Given the description of an element on the screen output the (x, y) to click on. 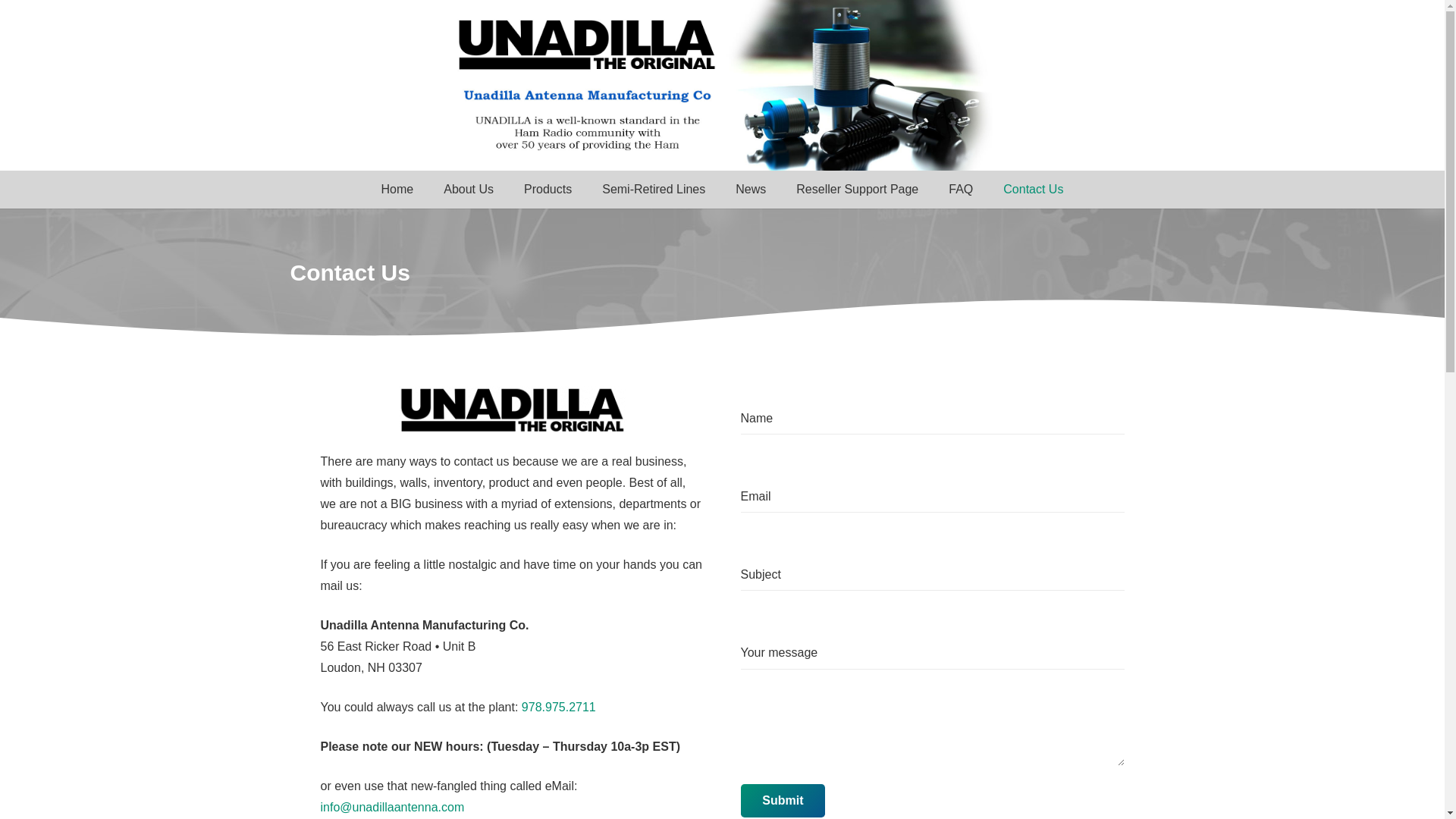
Reseller Support Page (856, 189)
Products (547, 189)
About Us (468, 189)
FAQ (960, 189)
Submit (782, 800)
Home (397, 189)
978.975.2711 (558, 707)
Semi-Retired Lines (653, 189)
News (750, 189)
Submit (782, 800)
Contact Us (1033, 189)
